Given the description of an element on the screen output the (x, y) to click on. 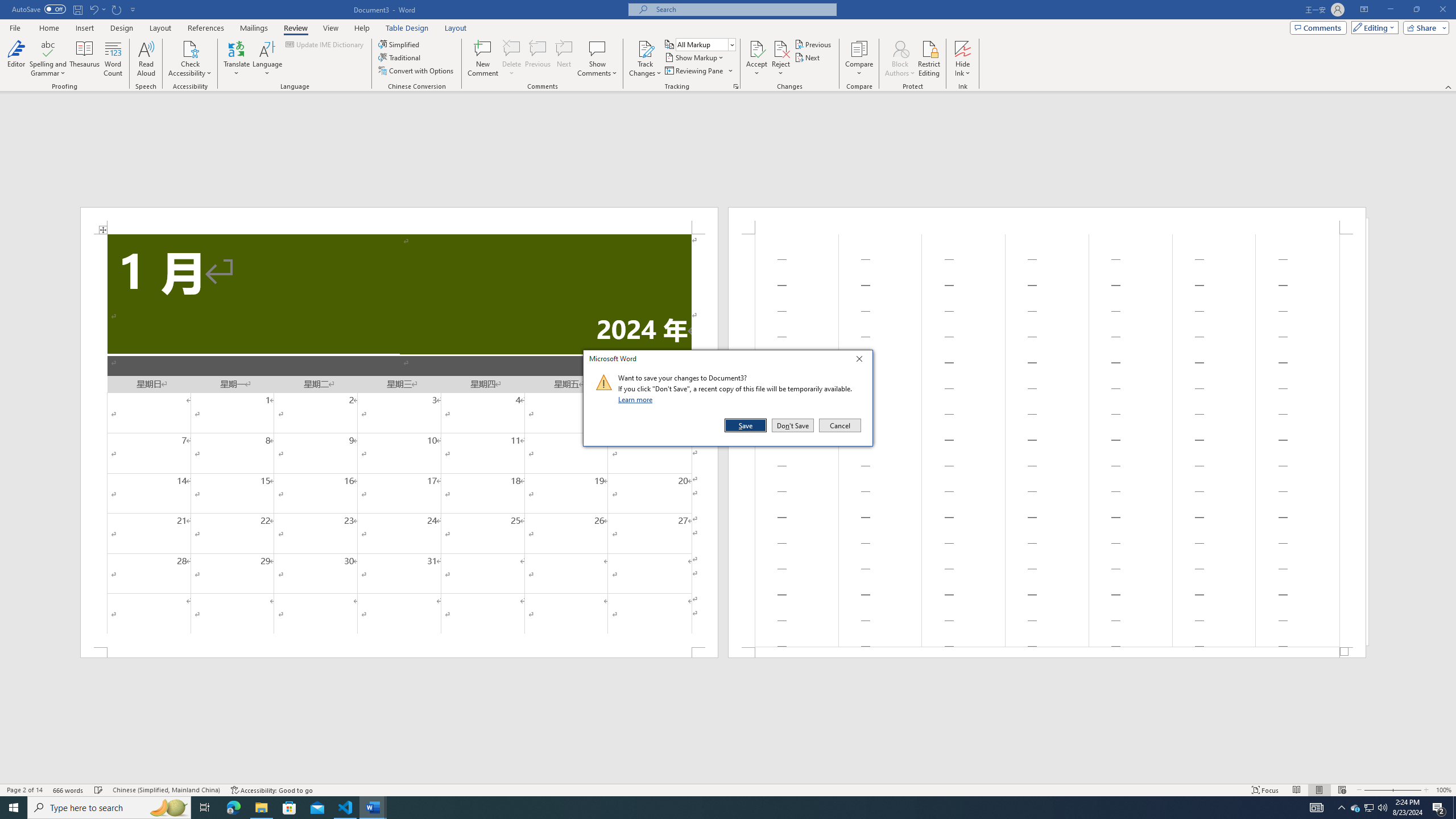
Repeat Doc Close (117, 9)
Start (13, 807)
Type here to search (108, 807)
Spelling and Grammar (48, 58)
Action Center, 2 new notifications (1439, 807)
Read Aloud (145, 58)
Show desktop (1454, 807)
Footer -Section 1- (1046, 652)
Check Accessibility (189, 48)
